Given the description of an element on the screen output the (x, y) to click on. 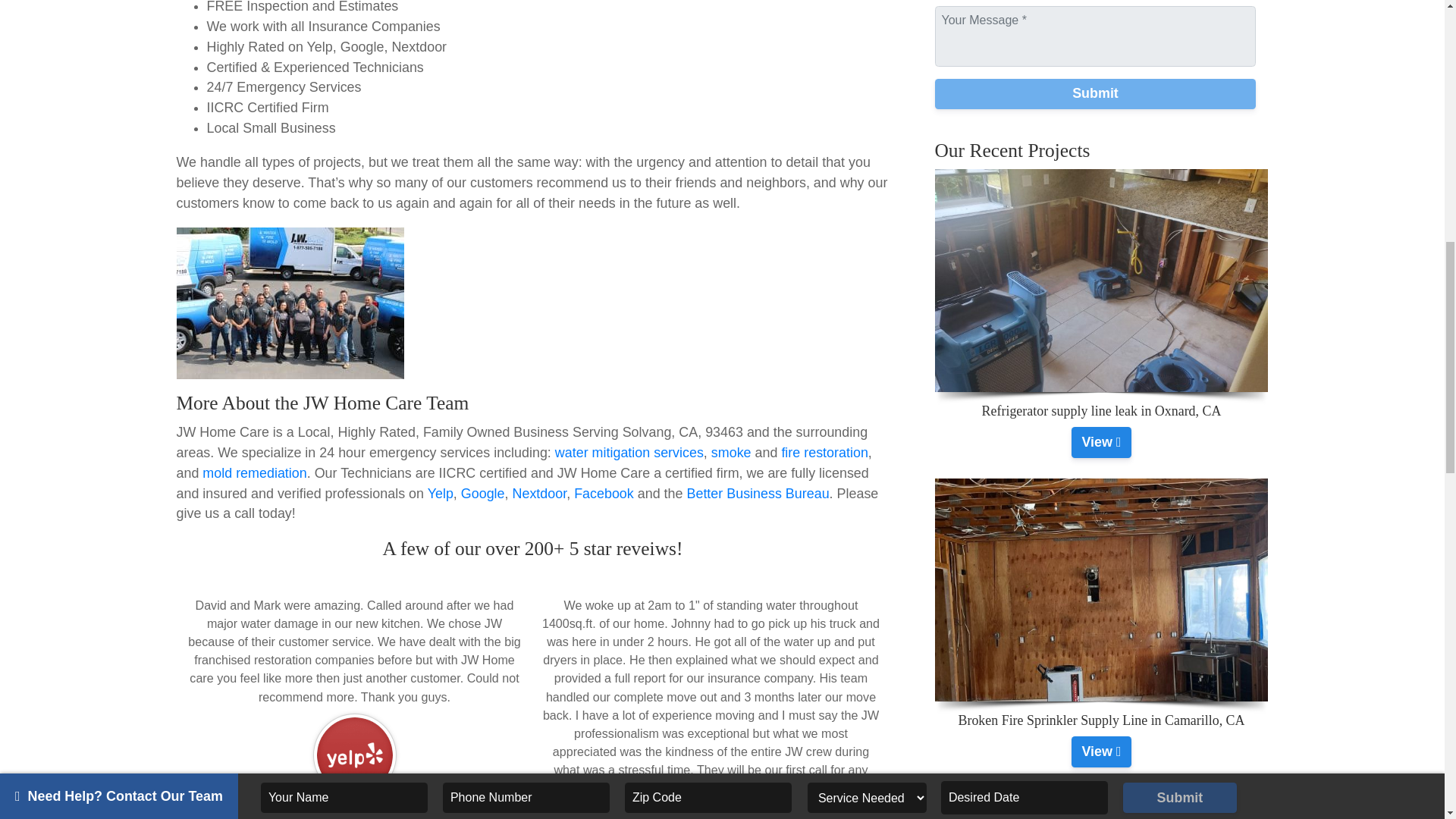
Refrigerator supply line leak in Oxnard, CA (1101, 441)
Submit (1094, 93)
Broken Fire Sprinkler Supply Line in Camarillo, CA (1101, 751)
